Given the description of an element on the screen output the (x, y) to click on. 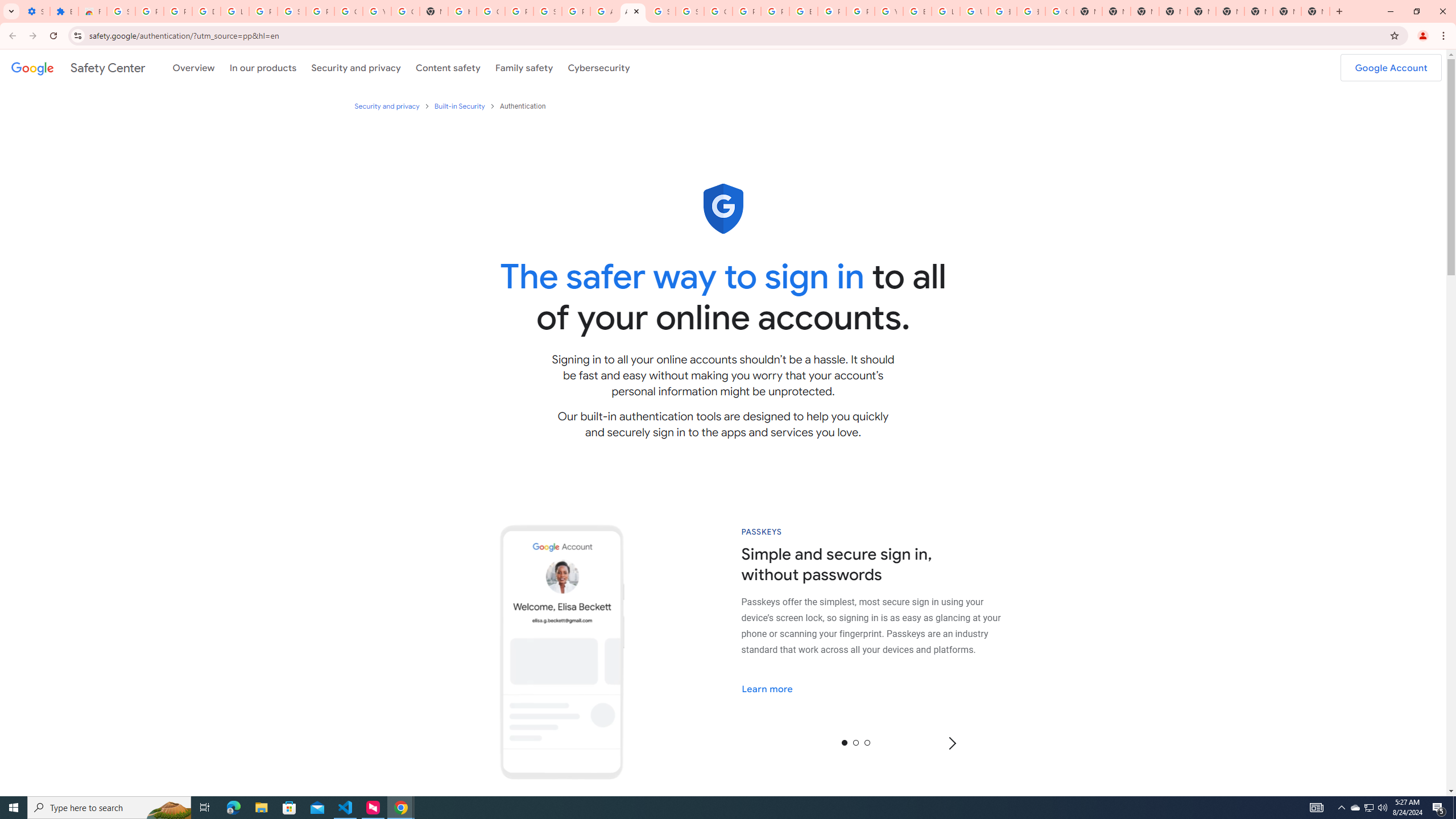
0 (844, 742)
https://scholar.google.com/ (461, 11)
New Tab (1173, 11)
AutomationID: passkeys-module-1 (884, 624)
Sign in - Google Accounts (690, 11)
